Given the description of an element on the screen output the (x, y) to click on. 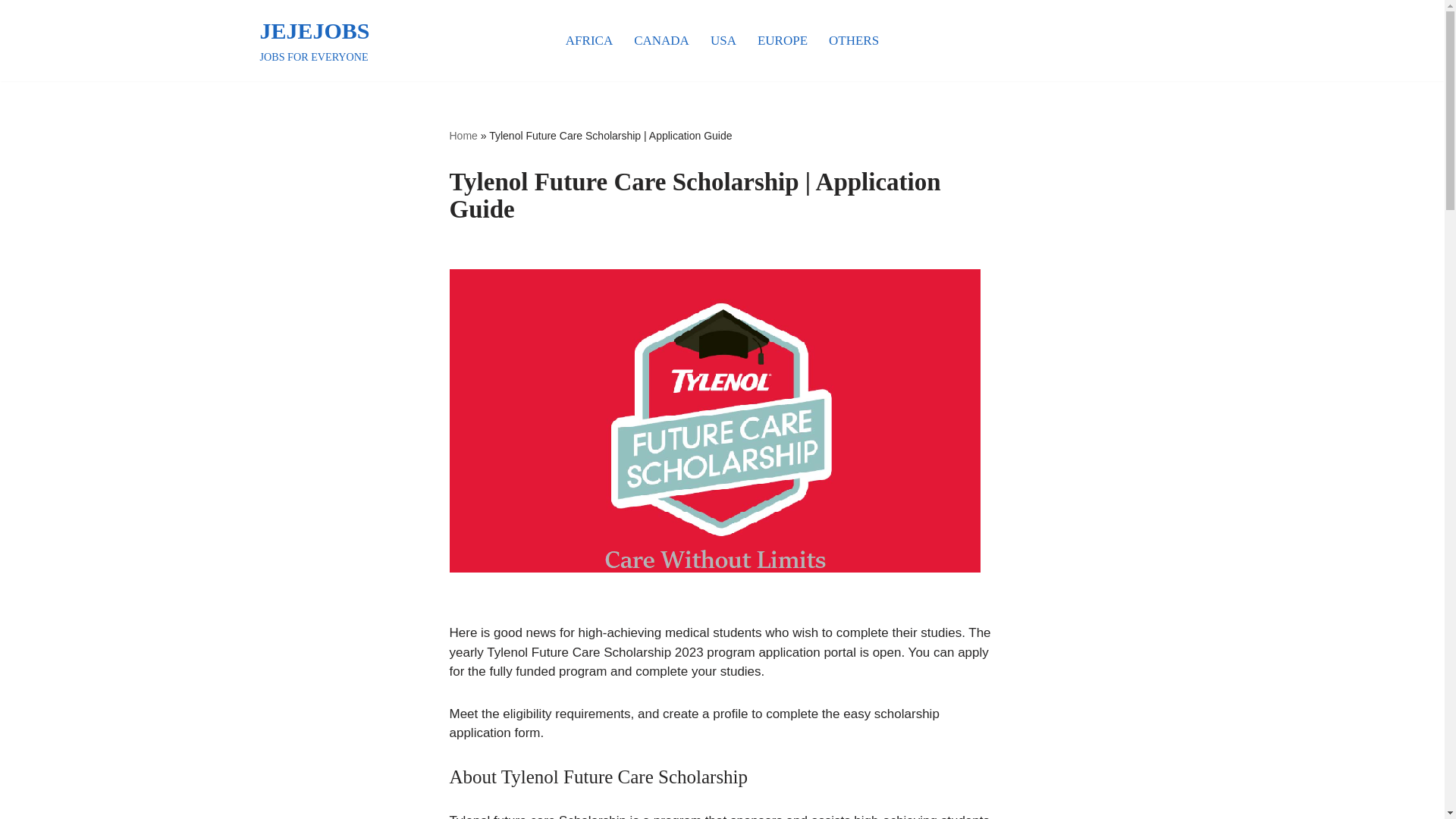
OTHERS (853, 39)
EUROPE (782, 39)
CANADA (660, 39)
USA (314, 40)
Home (723, 39)
Skip to content (462, 134)
AFRICA (11, 31)
